Given the description of an element on the screen output the (x, y) to click on. 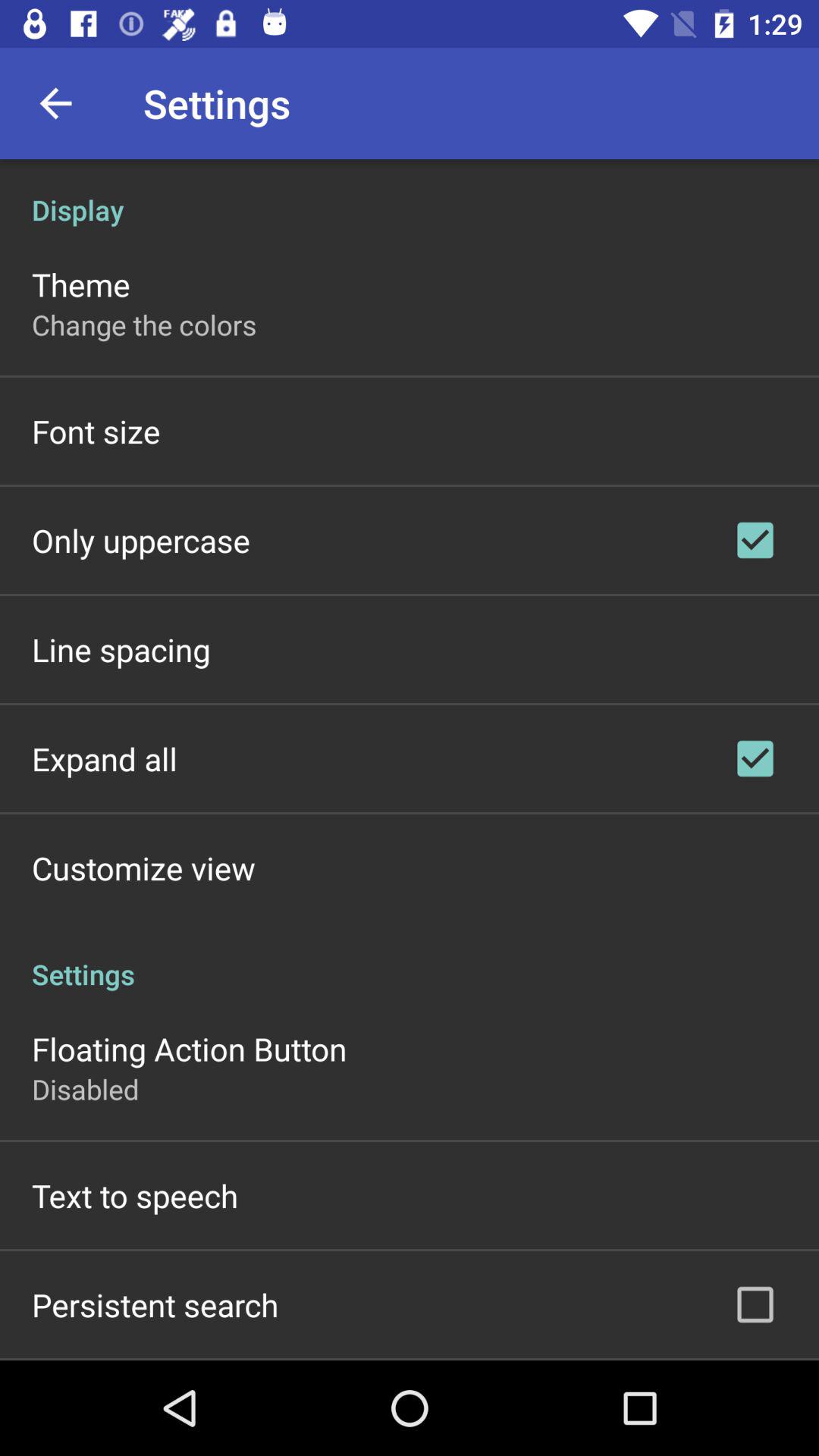
open the display (409, 193)
